Given the description of an element on the screen output the (x, y) to click on. 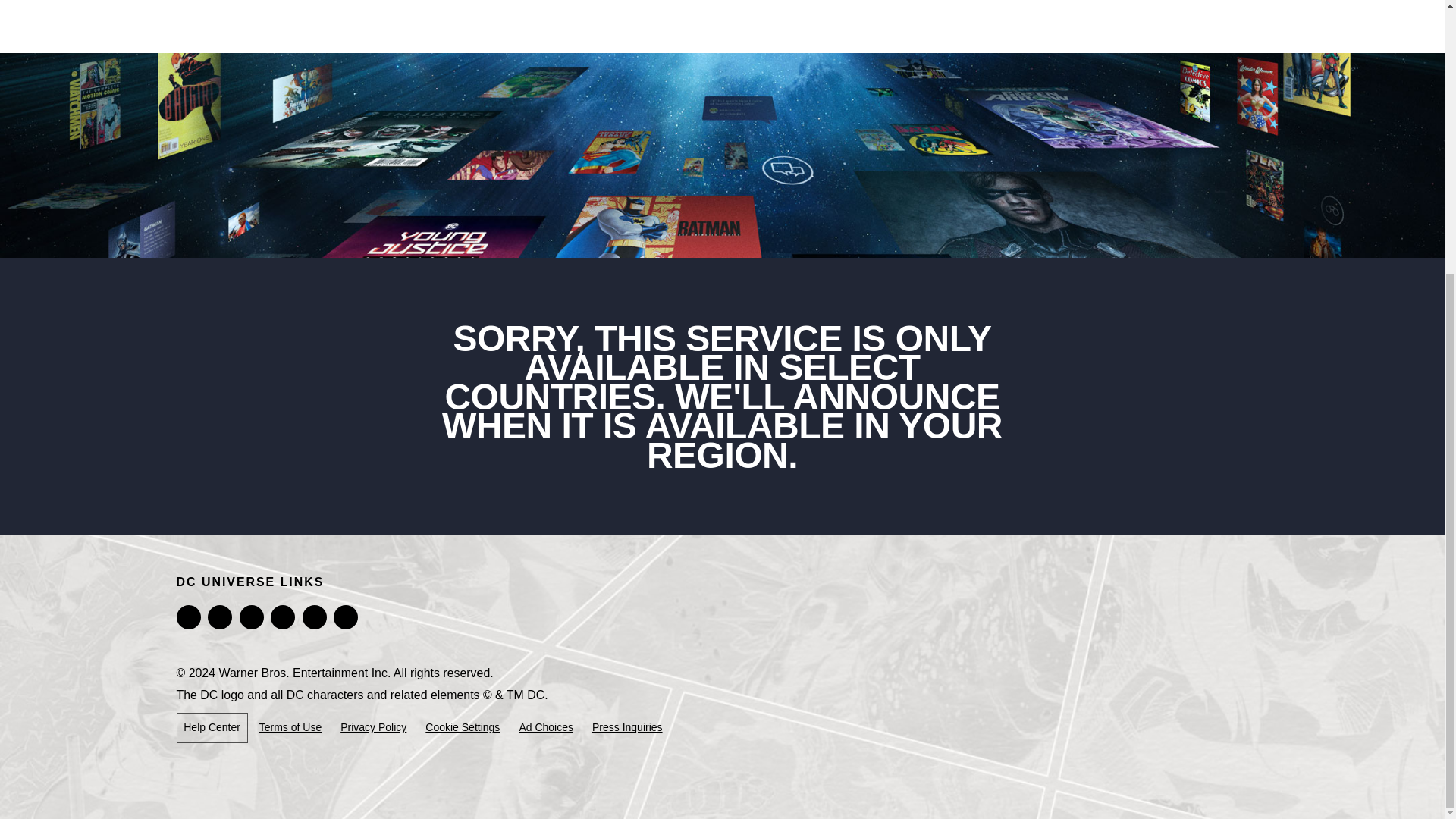
Cookie Settings (461, 726)
Privacy Policy (373, 726)
Help Center (211, 727)
Press Inquiries (627, 726)
Terms of Use (290, 726)
Ad Choices (545, 726)
